Given the description of an element on the screen output the (x, y) to click on. 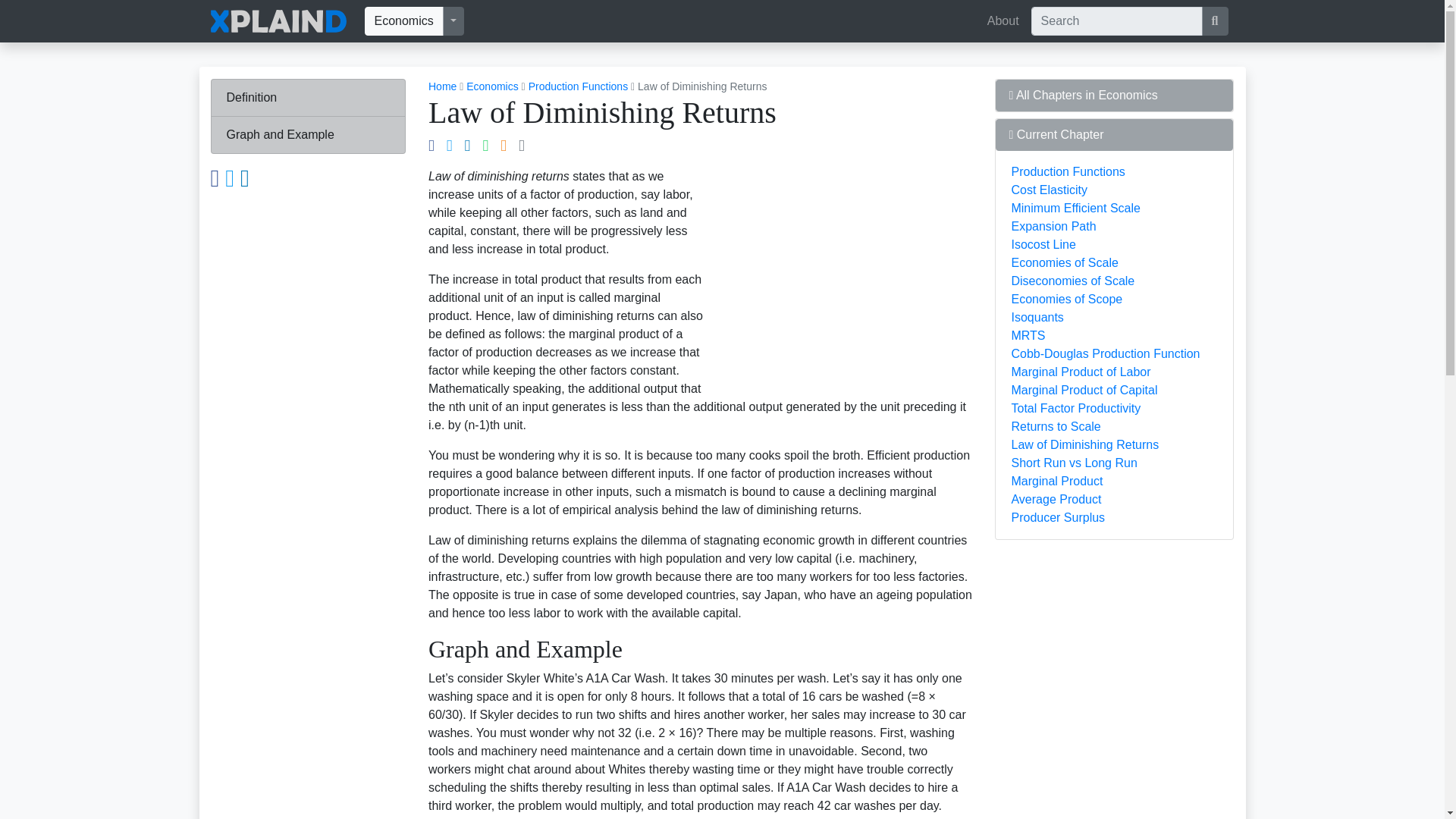
Advertisement (844, 273)
About (1003, 20)
Advertisement (1108, 768)
Economics (403, 21)
